Given the description of an element on the screen output the (x, y) to click on. 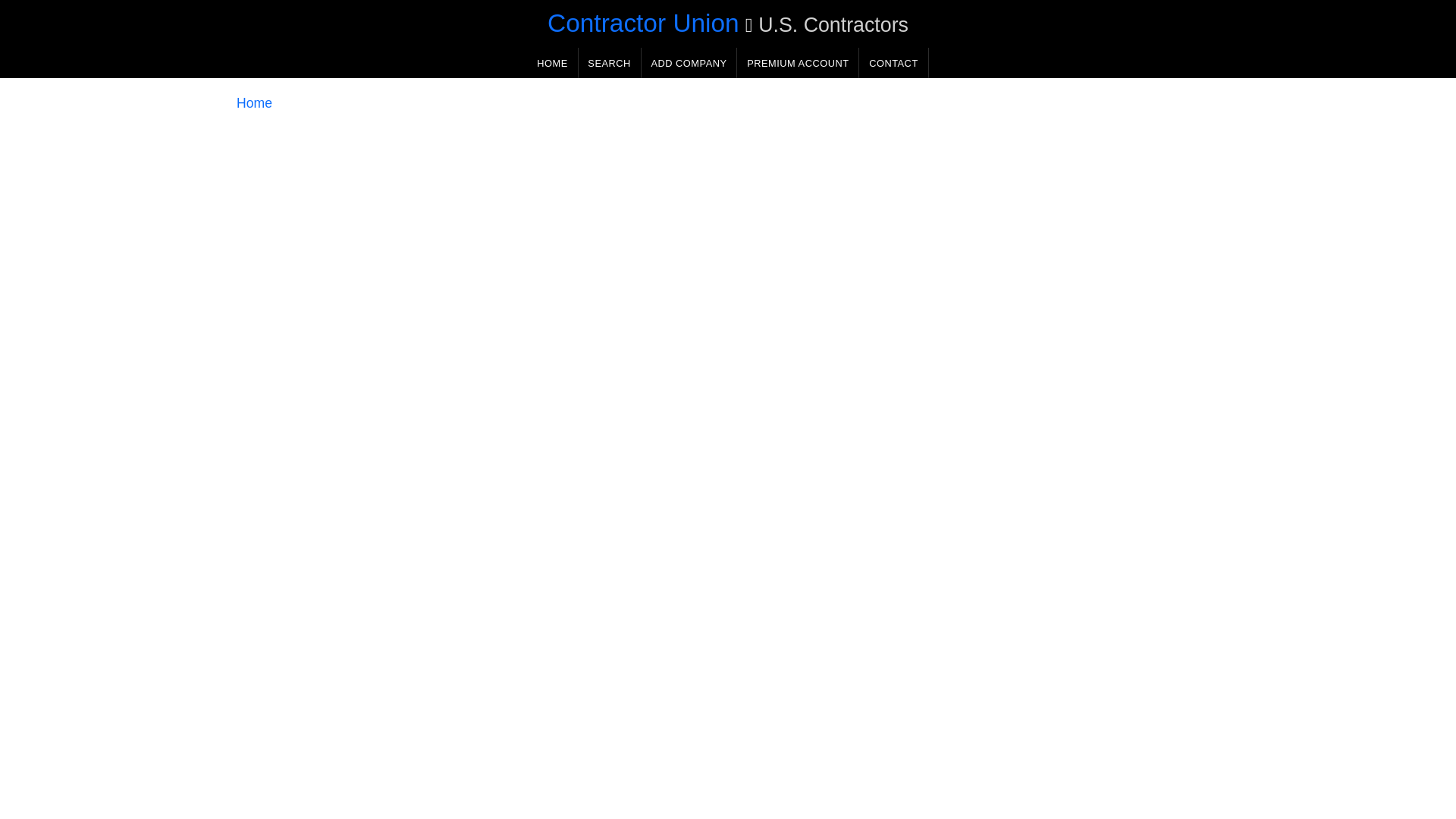
Add a new company (682, 64)
Premium account (792, 64)
CONTACT (887, 64)
Search in this webseite. (603, 64)
ADD COMPANY (682, 64)
HOME (546, 64)
Contractor Union (637, 22)
Home (248, 104)
PREMIUM ACCOUNT (792, 64)
